Given the description of an element on the screen output the (x, y) to click on. 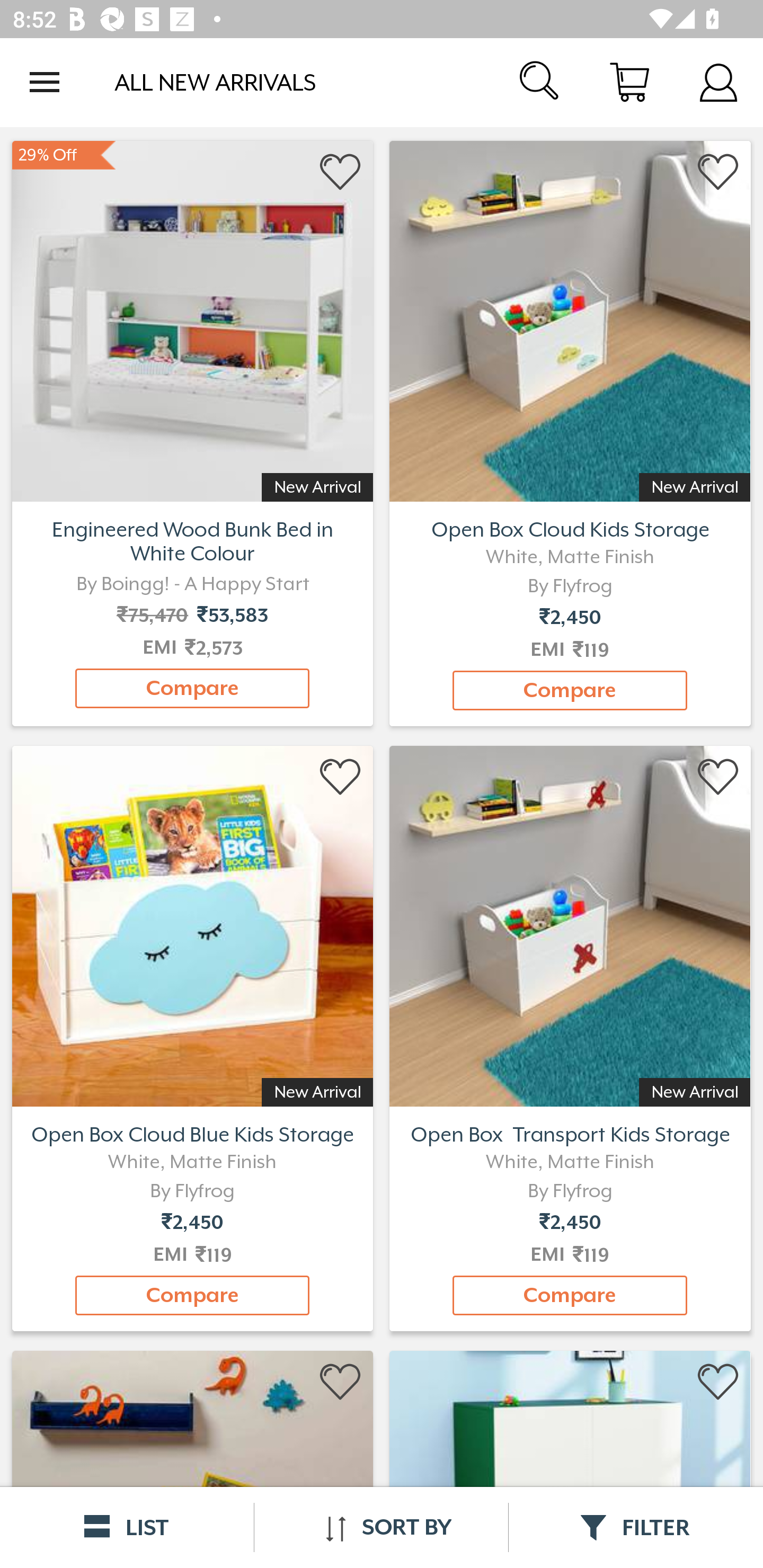
Open navigation drawer (44, 82)
Search (540, 81)
Cart (629, 81)
Account Details (718, 81)
 (341, 172)
 (718, 172)
Compare (192, 687)
Compare (569, 690)
 (341, 777)
 (718, 777)
Compare (192, 1295)
Compare (569, 1295)
 (341, 1382)
 (718, 1382)
 LIST (127, 1527)
SORT BY (381, 1527)
 FILTER (635, 1527)
